Given the description of an element on the screen output the (x, y) to click on. 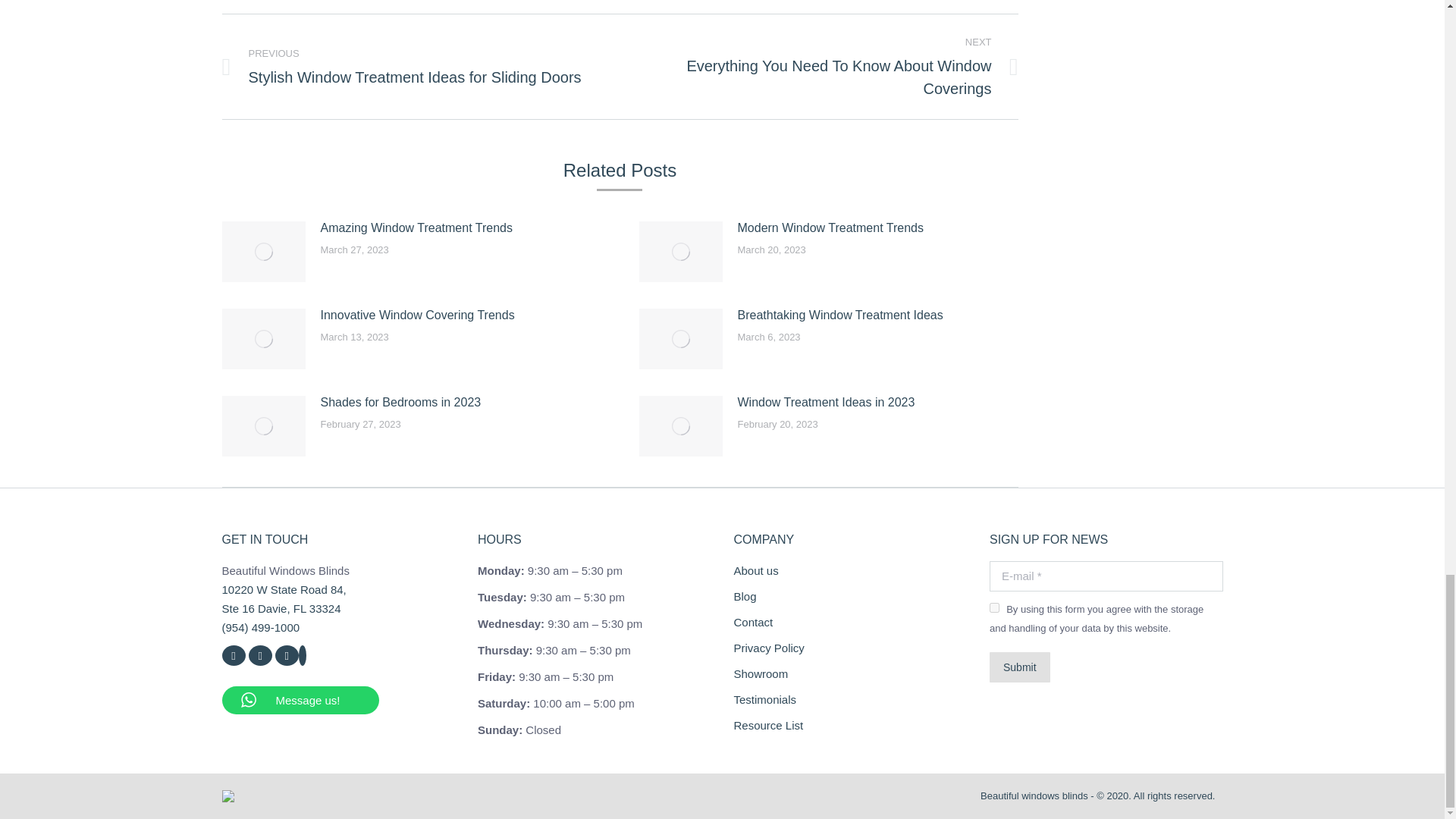
on (994, 607)
submit (1088, 668)
